Given the description of an element on the screen output the (x, y) to click on. 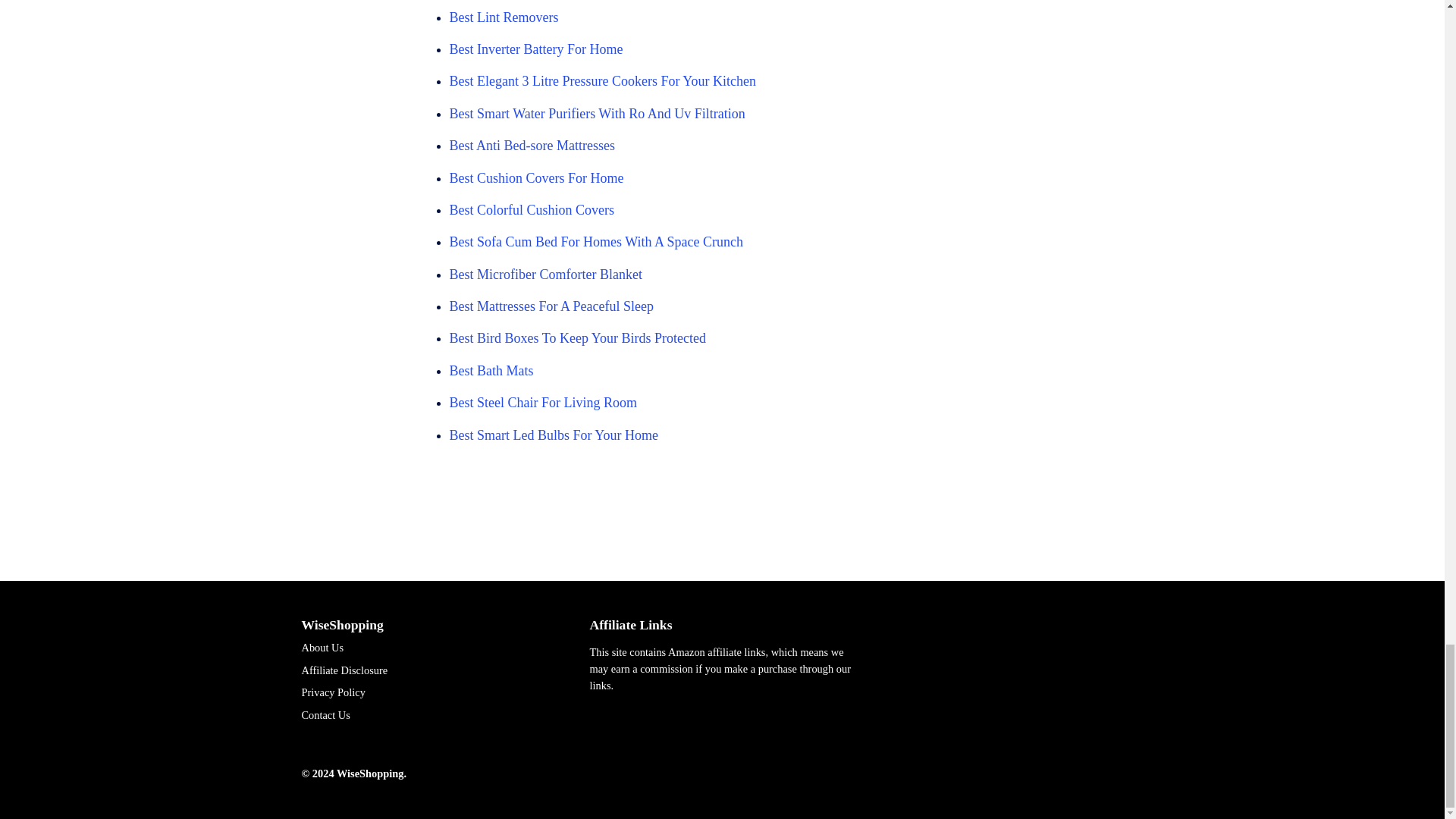
Best Anti Bed-sore Mattresses (531, 145)
Best Microfiber Comforter Blanket (545, 273)
Best Steel Chair For Living Room (542, 402)
WiseShopping (342, 624)
Best Smart Led Bulbs For Your Home (553, 435)
Best Inverter Battery For Home (535, 48)
Best Elegant 3 Litre Pressure Cookers For Your Kitchen (601, 80)
Best Inverter Battery For Home (535, 48)
Best Cushion Covers For Home (535, 177)
Best Cushion Covers For Home (535, 177)
Best Microfiber Comforter Blanket (545, 273)
Best Colorful Cushion Covers (531, 209)
Best Bath Mats (490, 370)
Best Sofa Cum Bed For Homes With A Space Crunch (595, 241)
Best Colorful Cushion Covers (531, 209)
